Given the description of an element on the screen output the (x, y) to click on. 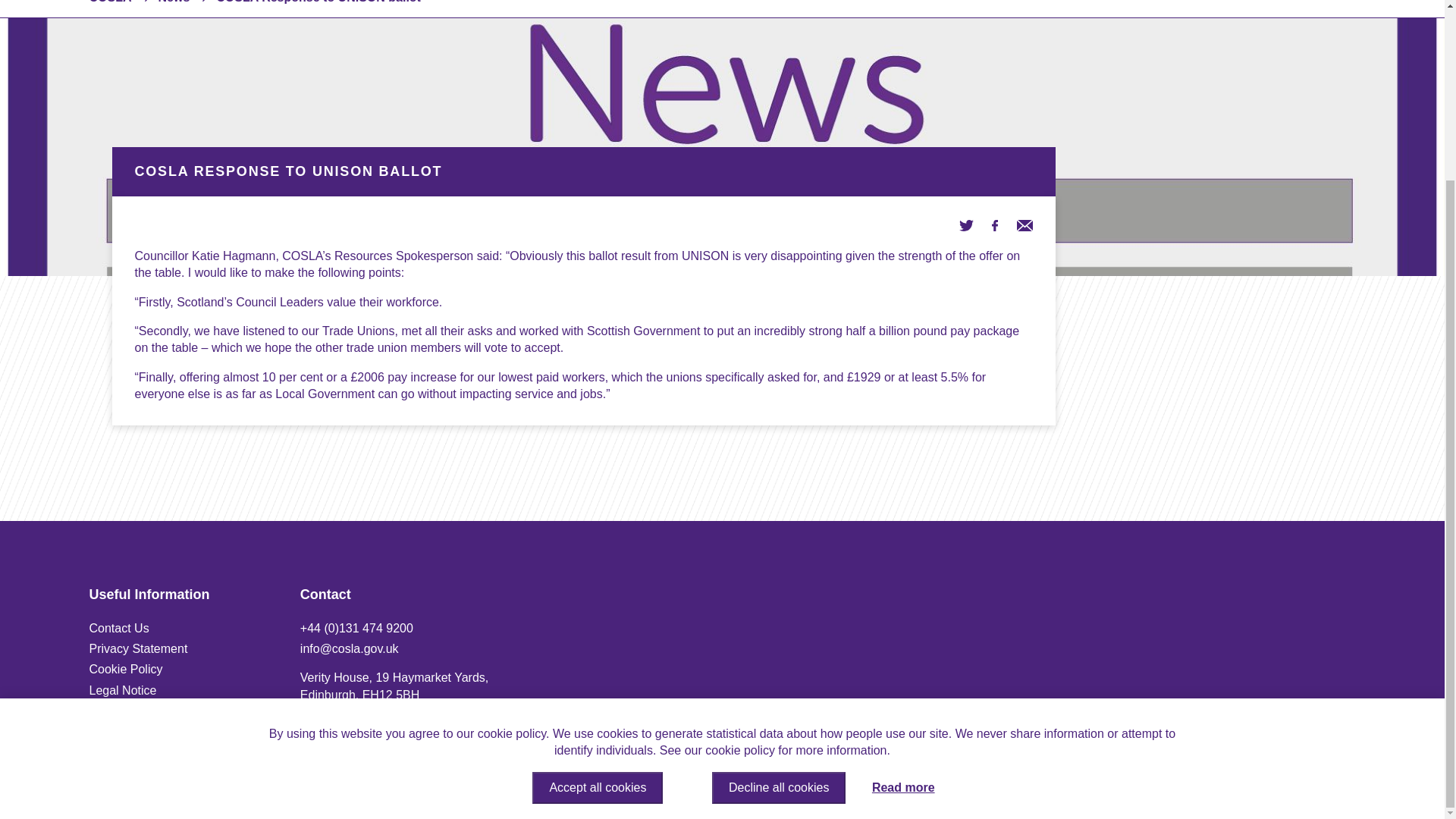
COSLA (110, 2)
Go to Twitter page (965, 224)
Send an email (1024, 224)
News (173, 2)
Link to Contact Us (118, 627)
Social media icond for youtube.svg Social media icon (1297, 782)
Link to Legal Notice (122, 689)
Link to Privacy Statement (137, 648)
Link to COSLA (110, 2)
Link to News (173, 2)
